Given the description of an element on the screen output the (x, y) to click on. 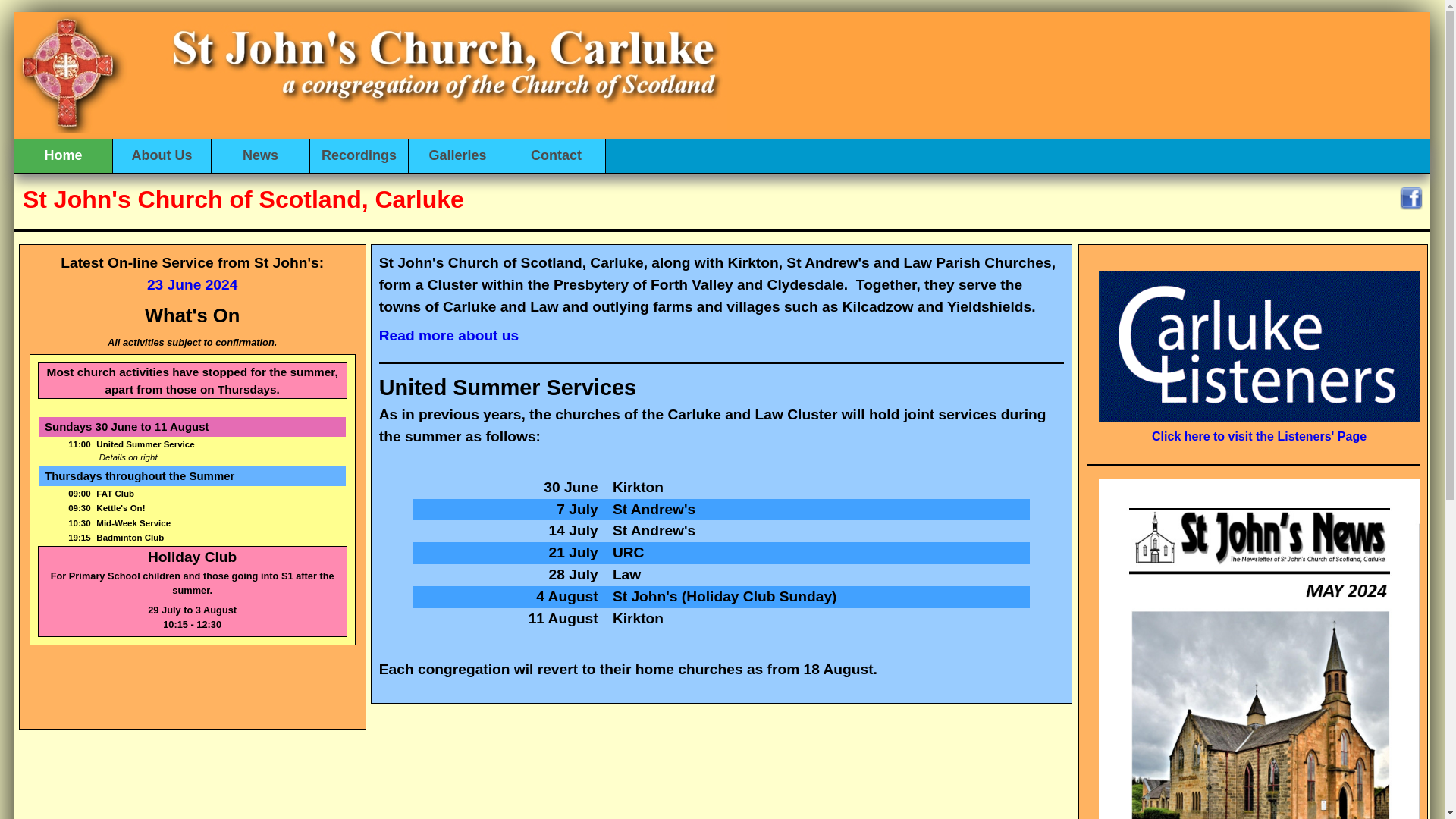
Home (63, 155)
News (260, 155)
Read more about us (448, 335)
  23 June 2024   (192, 284)
Contact (555, 155)
Galleries (457, 155)
About Us (162, 155)
Recordings (359, 155)
